Given the description of an element on the screen output the (x, y) to click on. 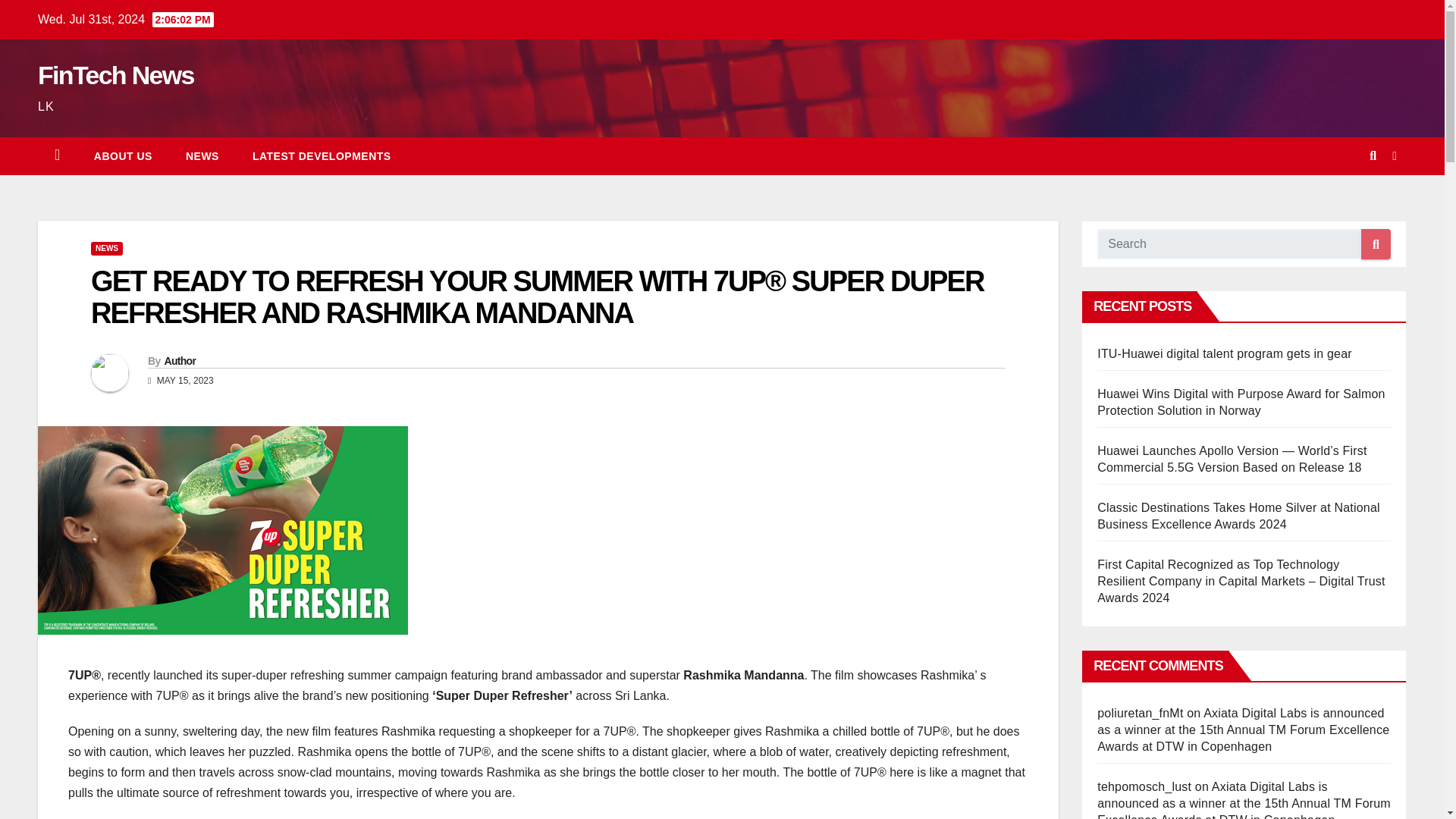
Author (179, 360)
LATEST DEVELOPMENTS (321, 156)
FinTech News (115, 74)
Latest Developments (321, 156)
News (201, 156)
ABOUT US (122, 156)
NEWS (106, 248)
NEWS (201, 156)
About Us (122, 156)
